Given the description of an element on the screen output the (x, y) to click on. 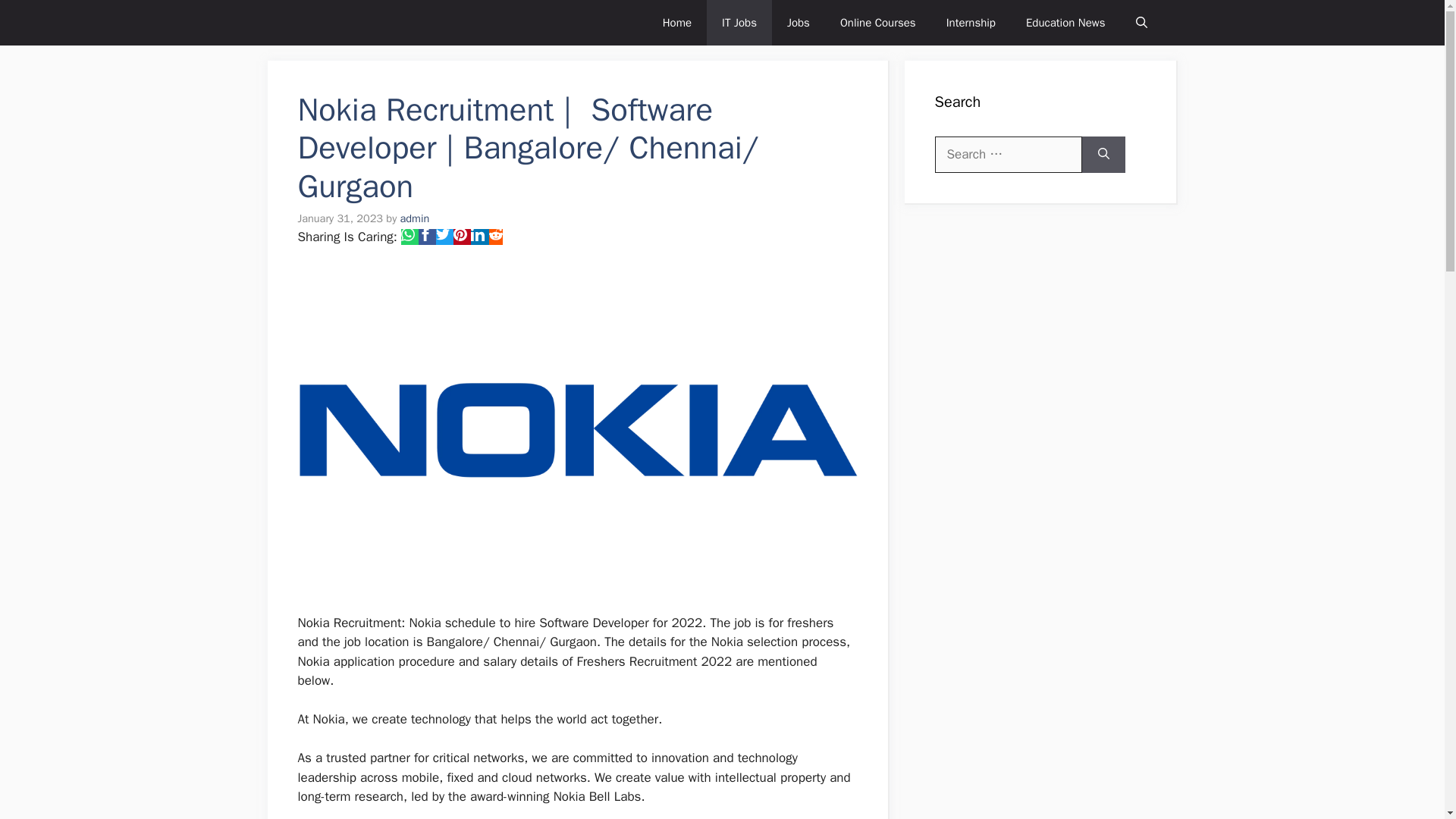
Online Courses (878, 22)
IT Jobs (738, 22)
Education News (1065, 22)
Internship (970, 22)
View all posts by admin (414, 218)
Jobs (798, 22)
Home (676, 22)
admin (414, 218)
Search for: (1007, 154)
